Given the description of an element on the screen output the (x, y) to click on. 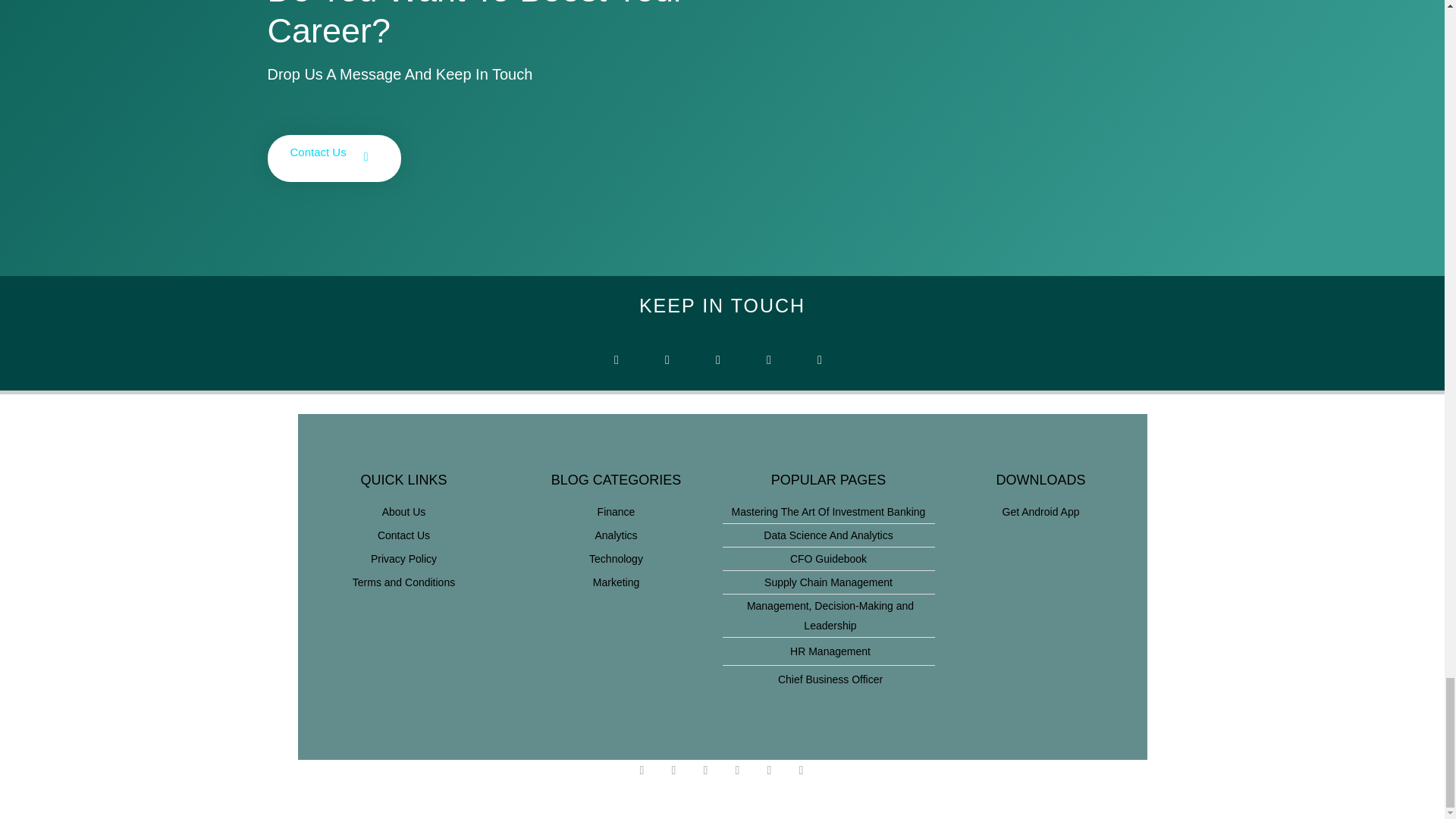
Contact Us (403, 535)
About Us (403, 511)
Contact Us (333, 158)
Privacy Policy (403, 558)
